Given the description of an element on the screen output the (x, y) to click on. 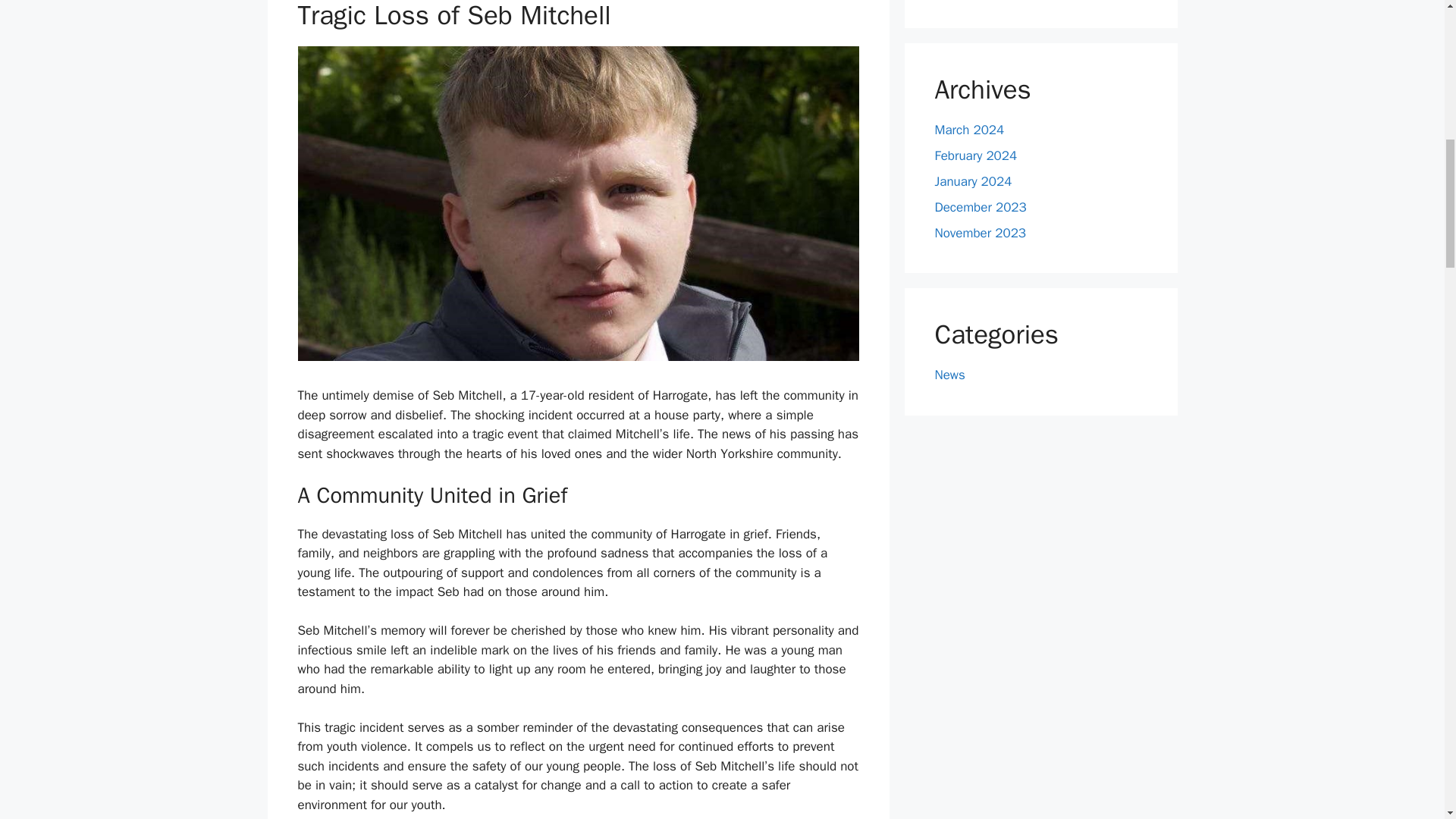
March 2024 (969, 130)
January 2024 (972, 181)
News (948, 374)
February 2024 (975, 155)
November 2023 (980, 232)
December 2023 (980, 207)
